Given the description of an element on the screen output the (x, y) to click on. 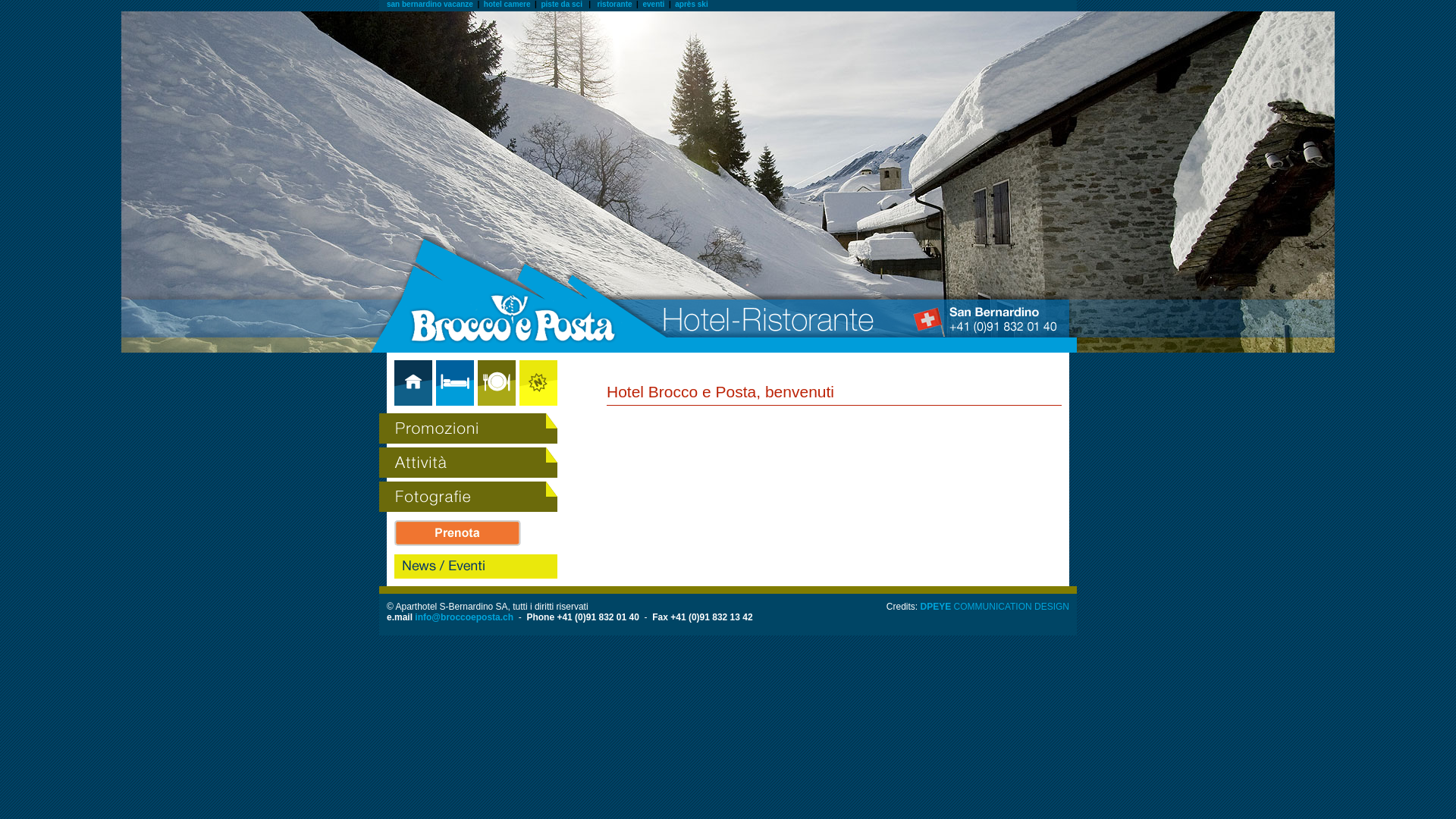
piste da sci Element type: text (560, 4)
eventi Element type: text (653, 4)
san bernardino vacanze Element type: text (429, 4)
Fotograzie brocco Element type: hover (464, 496)
DPEYE COMMUNICATION DESIGN Element type: text (994, 606)
ristorante Element type: text (613, 4)
promozioni Brocco Element type: hover (464, 428)
info@broccoeposta.ch Element type: text (463, 616)
Attivita brocco Element type: hover (464, 462)
hotel camere Element type: text (506, 4)
